Given the description of an element on the screen output the (x, y) to click on. 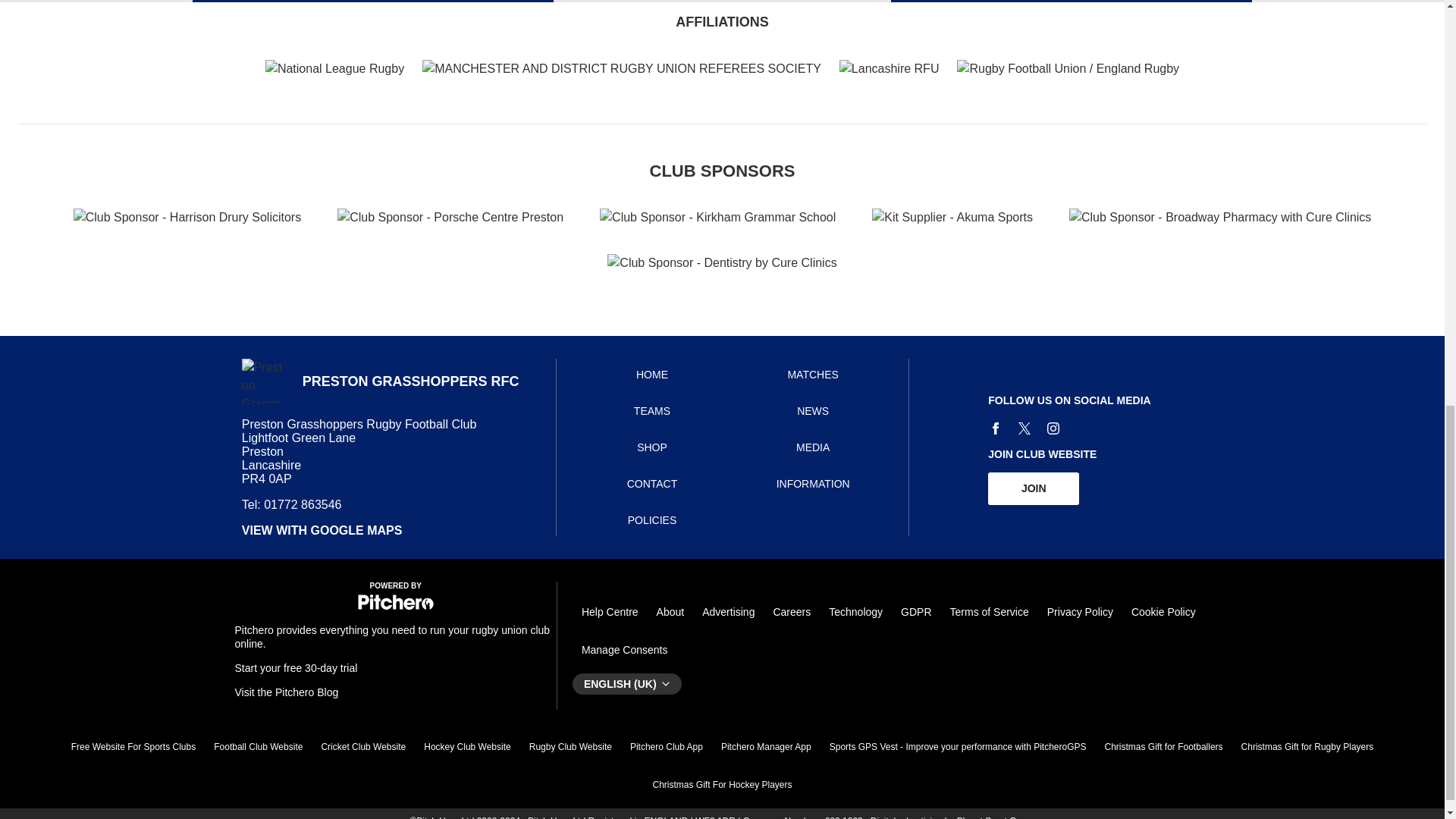
Club Sponsor - Kirkham Grammar School (717, 217)
Club Sponsor - Porsche Centre Preston (450, 217)
Kit Supplier - Akuma Sports (952, 217)
Club Sponsor - Dentistry by Cure Clinics (721, 262)
Club Sponsor - Broadway Pharmacy with Cure Clinics (1219, 217)
Club Sponsor - Harrison Drury Solicitors (187, 217)
